Given the description of an element on the screen output the (x, y) to click on. 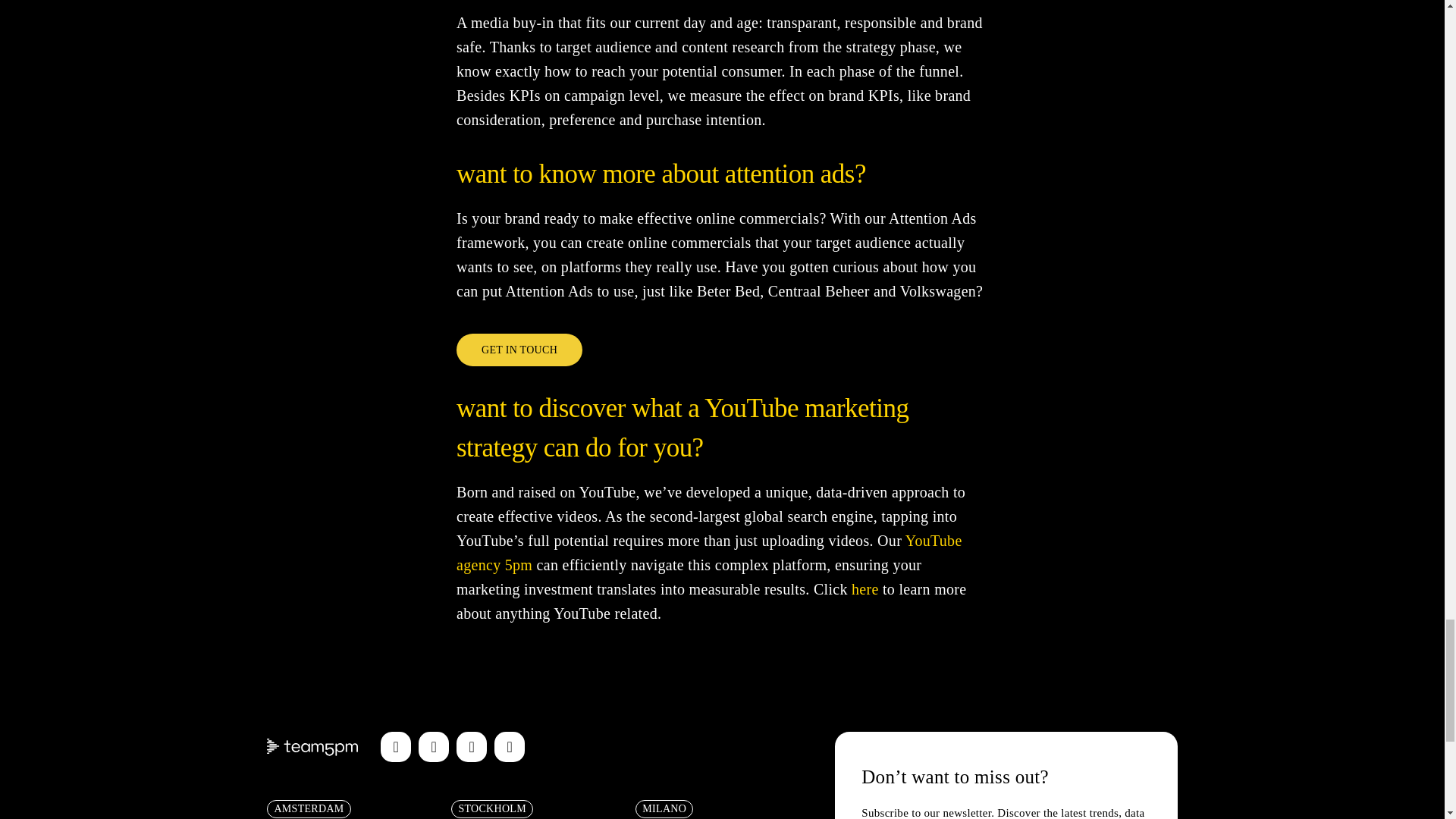
here (866, 589)
LinkedIn (509, 747)
GET IN TOUCH (519, 349)
Tiktok (433, 747)
5pm (518, 565)
YouTube (471, 747)
Logo Team5pm nieuw (312, 746)
YouTube agency (709, 553)
Instagram (395, 747)
